Given the description of an element on the screen output the (x, y) to click on. 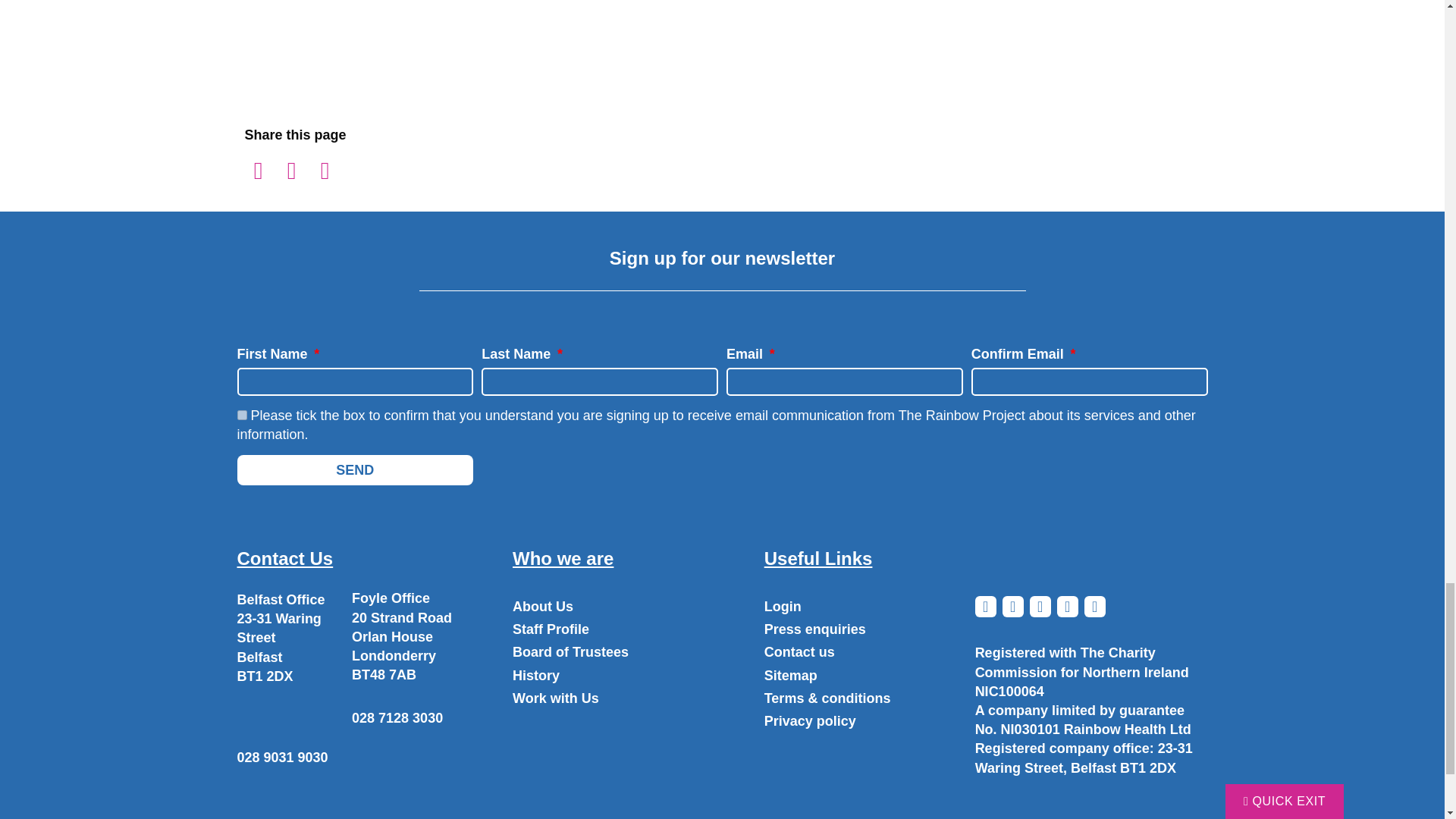
on (240, 415)
